Given the description of an element on the screen output the (x, y) to click on. 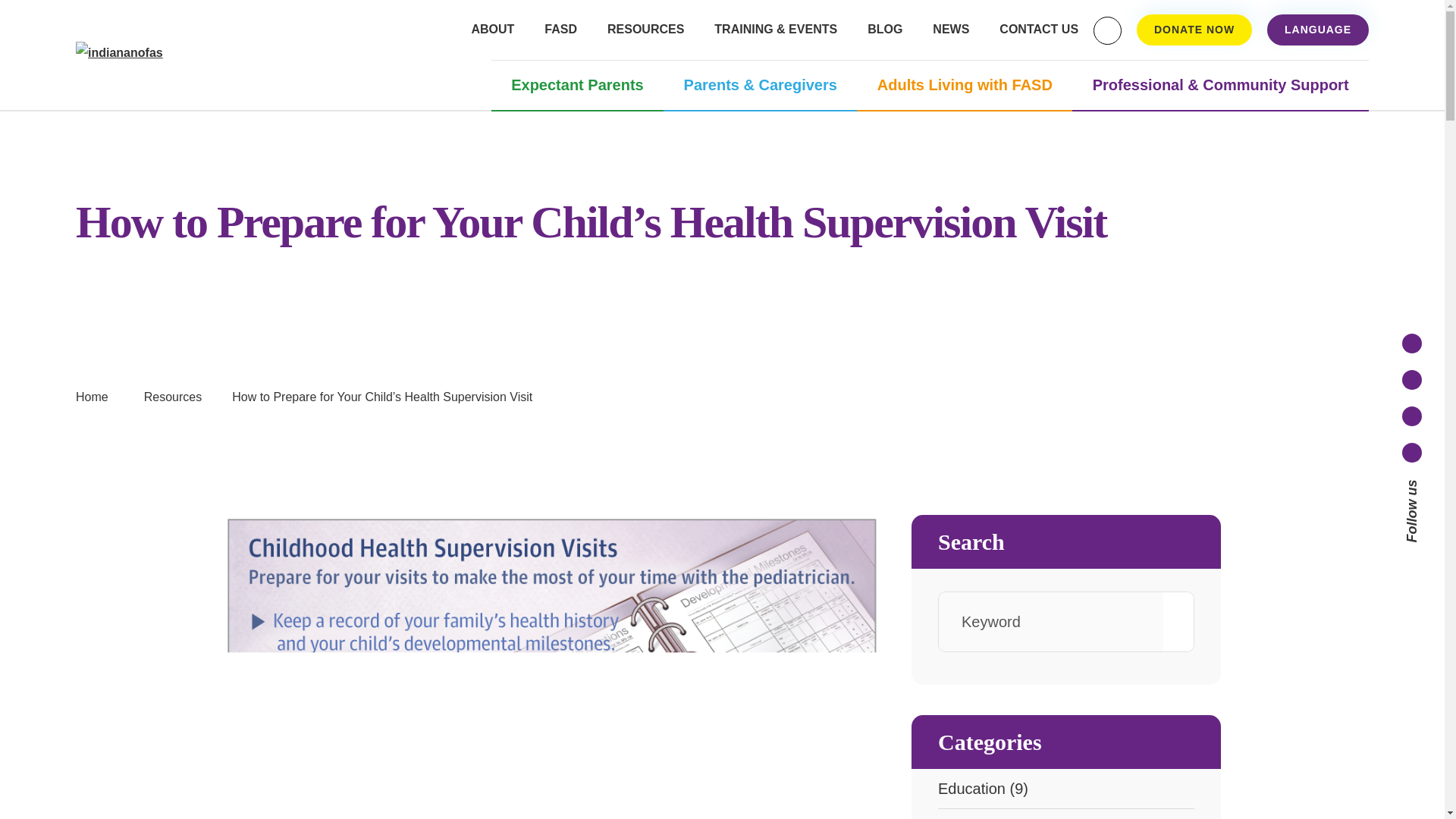
LANGUAGE (1317, 29)
RESOURCES (645, 29)
DONATE NOW (1194, 29)
CONTACT US (1038, 29)
